Given the description of an element on the screen output the (x, y) to click on. 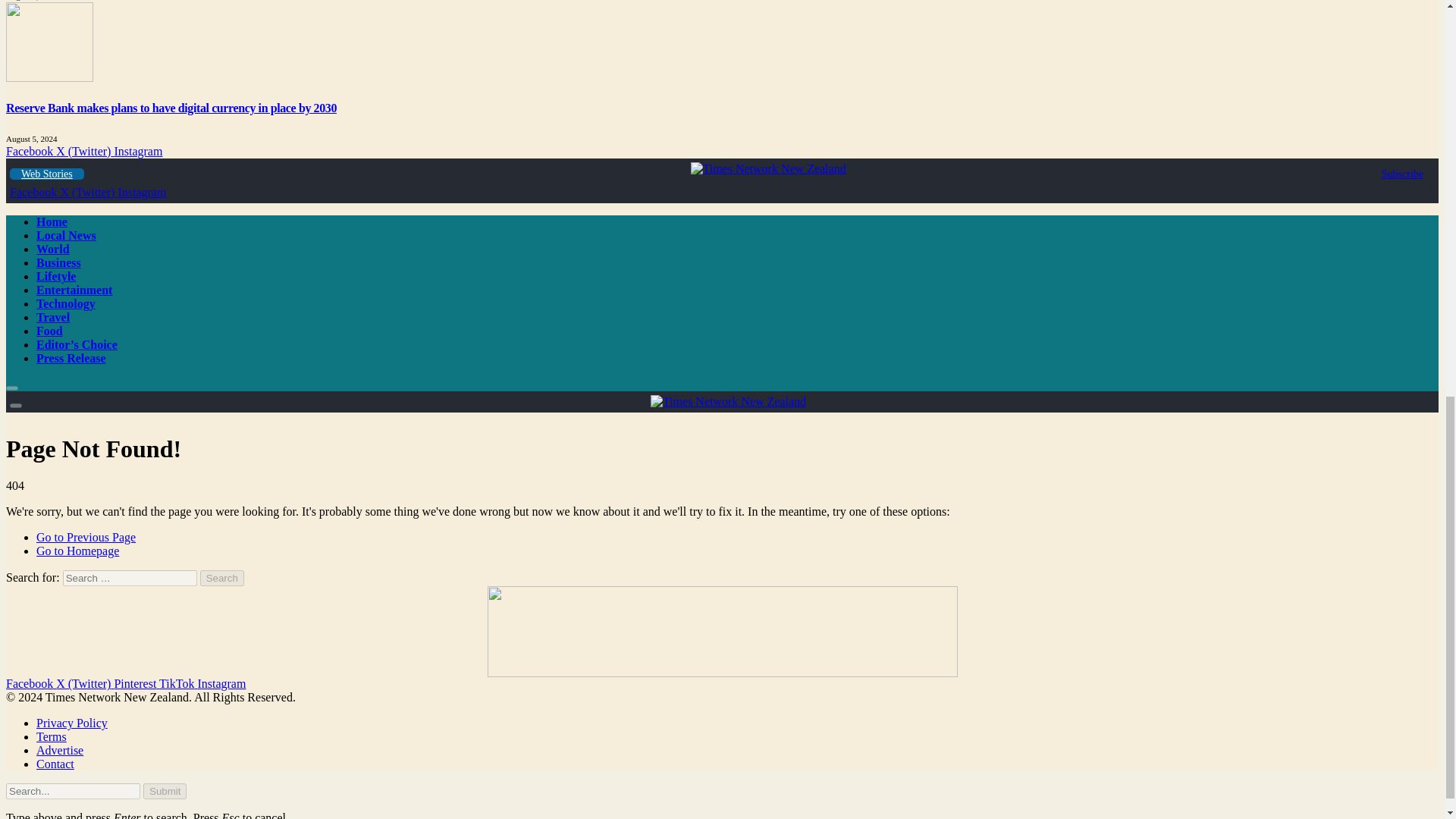
Lifetyle (55, 276)
Home (51, 221)
Local News (66, 235)
Food (49, 330)
Facebook (34, 192)
Search (222, 578)
Times Network New Zealand (728, 400)
Search (222, 578)
Instagram (141, 192)
Business (58, 262)
Technology (66, 303)
Facebook (30, 151)
Entertainment (74, 289)
